Given the description of an element on the screen output the (x, y) to click on. 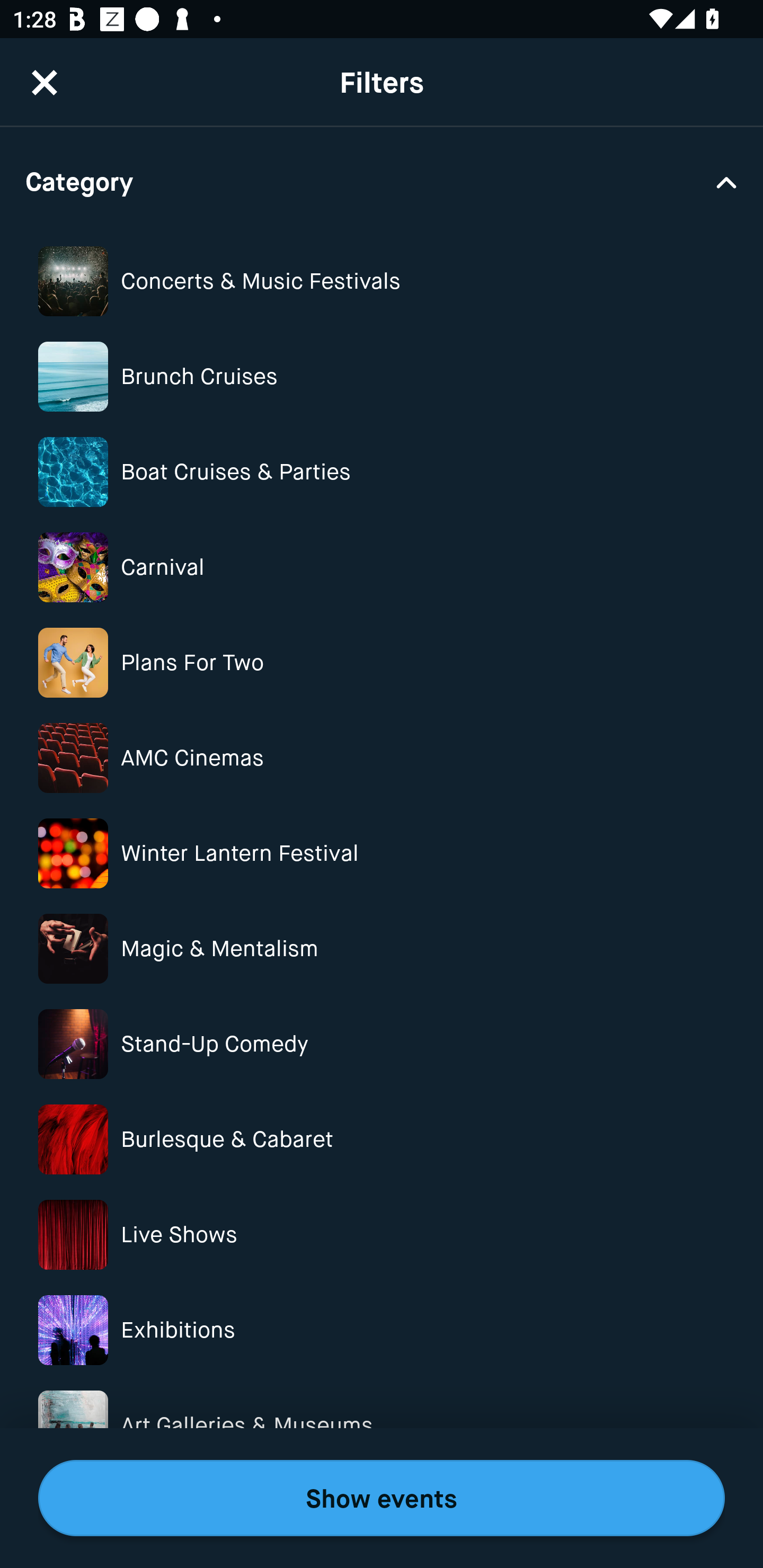
CloseButton (44, 63)
Category Drop Down Arrow (381, 181)
Category Image Concerts & Music Festivals (381, 281)
Category Image Brunch Cruises (381, 376)
Category Image Boat Cruises & Parties (381, 471)
Category Image Carnival (381, 567)
Category Image Plans For Two (381, 662)
Category Image AMC Cinemas (381, 757)
Category Image Winter Lantern Festival (381, 853)
Category Image Magic & Mentalism (381, 948)
Category Image Stand-Up Comedy (381, 1043)
Category Image Burlesque & Cabaret (381, 1138)
Category Image Live Shows (381, 1234)
Category Image Exhibitions (381, 1330)
Show events (381, 1497)
